Given the description of an element on the screen output the (x, y) to click on. 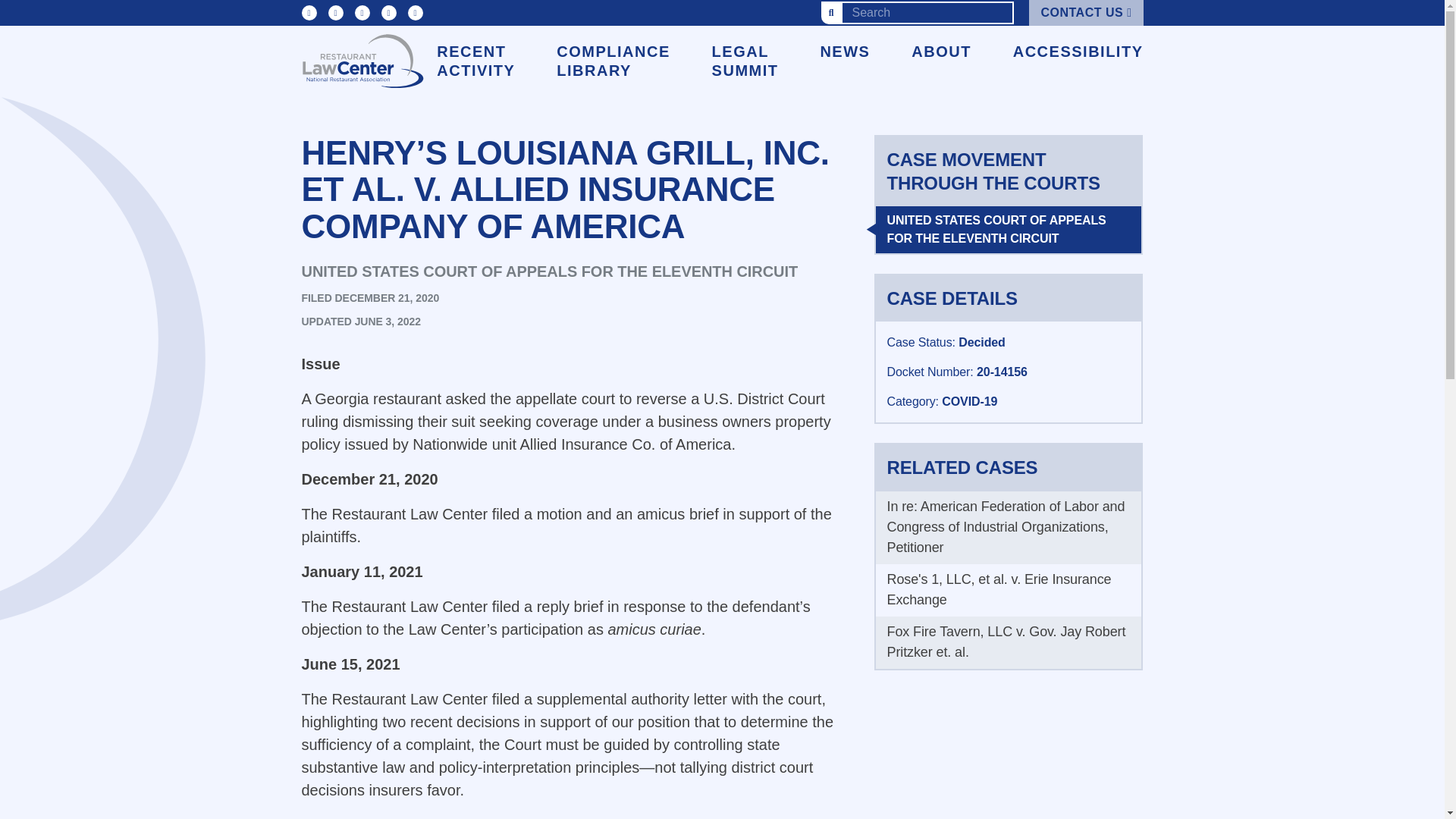
RECENT ACTIVITY (475, 61)
LinkedIn (309, 12)
NEWS (844, 51)
Rose's 1, LLC, et al. v. Erie Insurance Exchange (999, 589)
Search (831, 12)
Twitter (334, 12)
ACCESSIBILITY (1077, 51)
Instagram (415, 12)
ABOUT (941, 51)
Fox Fire Tavern, LLC v. Gov. Jay Robert Pritzker et. al. (1005, 642)
YouTube (362, 12)
LEGAL SUMMIT (744, 61)
UNITED STATES COURT OF APPEALS FOR THE ELEVENTH CIRCUIT (1008, 229)
CONTACT US (1085, 12)
